Given the description of an element on the screen output the (x, y) to click on. 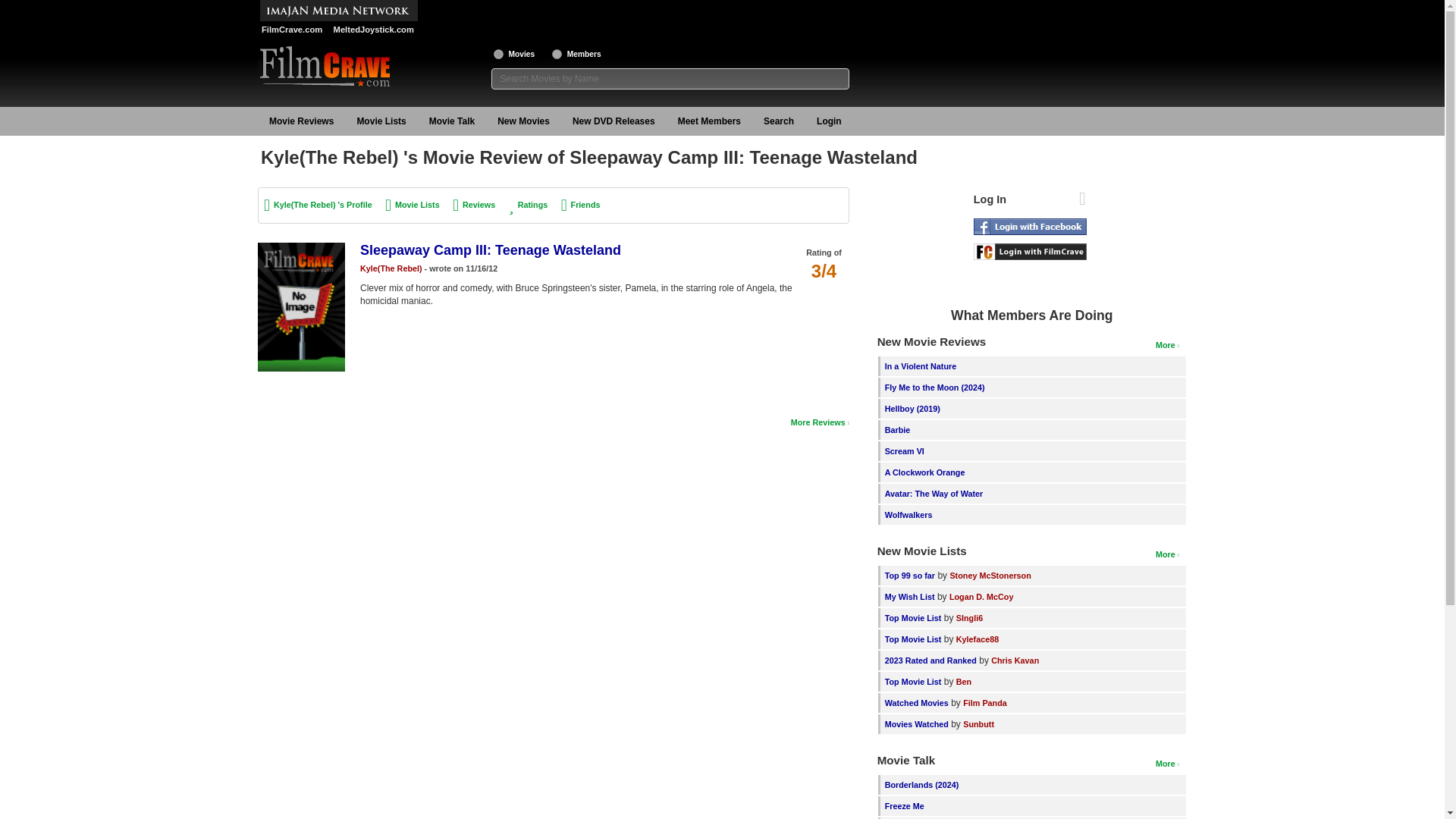
u (556, 53)
View Logan D. McCoy's profile (981, 596)
View Kyleface88's profile (977, 638)
Friends (580, 204)
Movie Talk (451, 121)
MeltedJoystick.com (371, 29)
More new movie lists (1167, 553)
Search (778, 121)
FilmCrave Movie Social Network (291, 29)
View Film Panda's profile (984, 702)
